Given the description of an element on the screen output the (x, y) to click on. 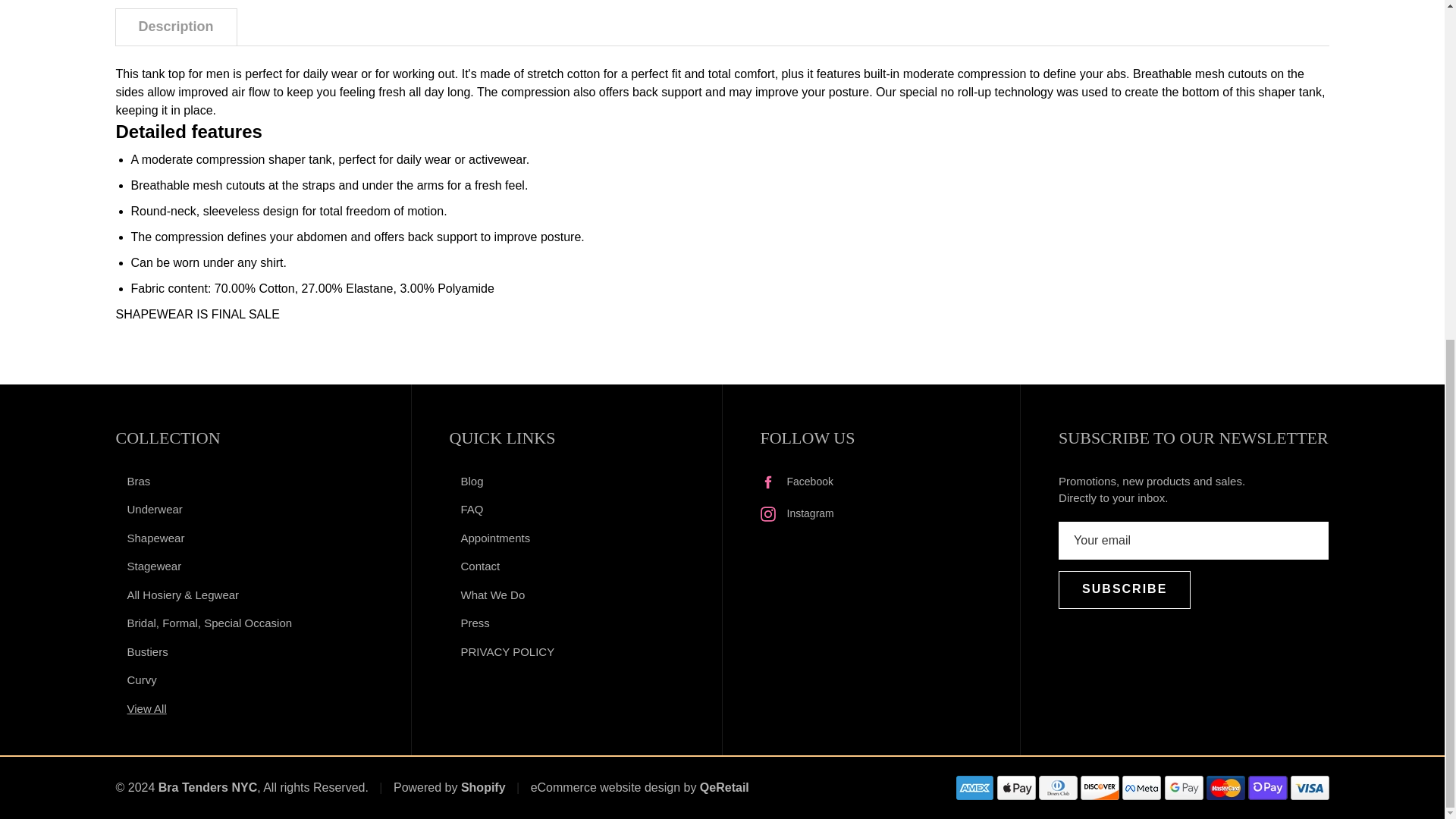
Bra Tenders NYC on Instagram (796, 513)
Bra Tenders NYC on Facebook (796, 481)
Website Design (605, 787)
